Given the description of an element on the screen output the (x, y) to click on. 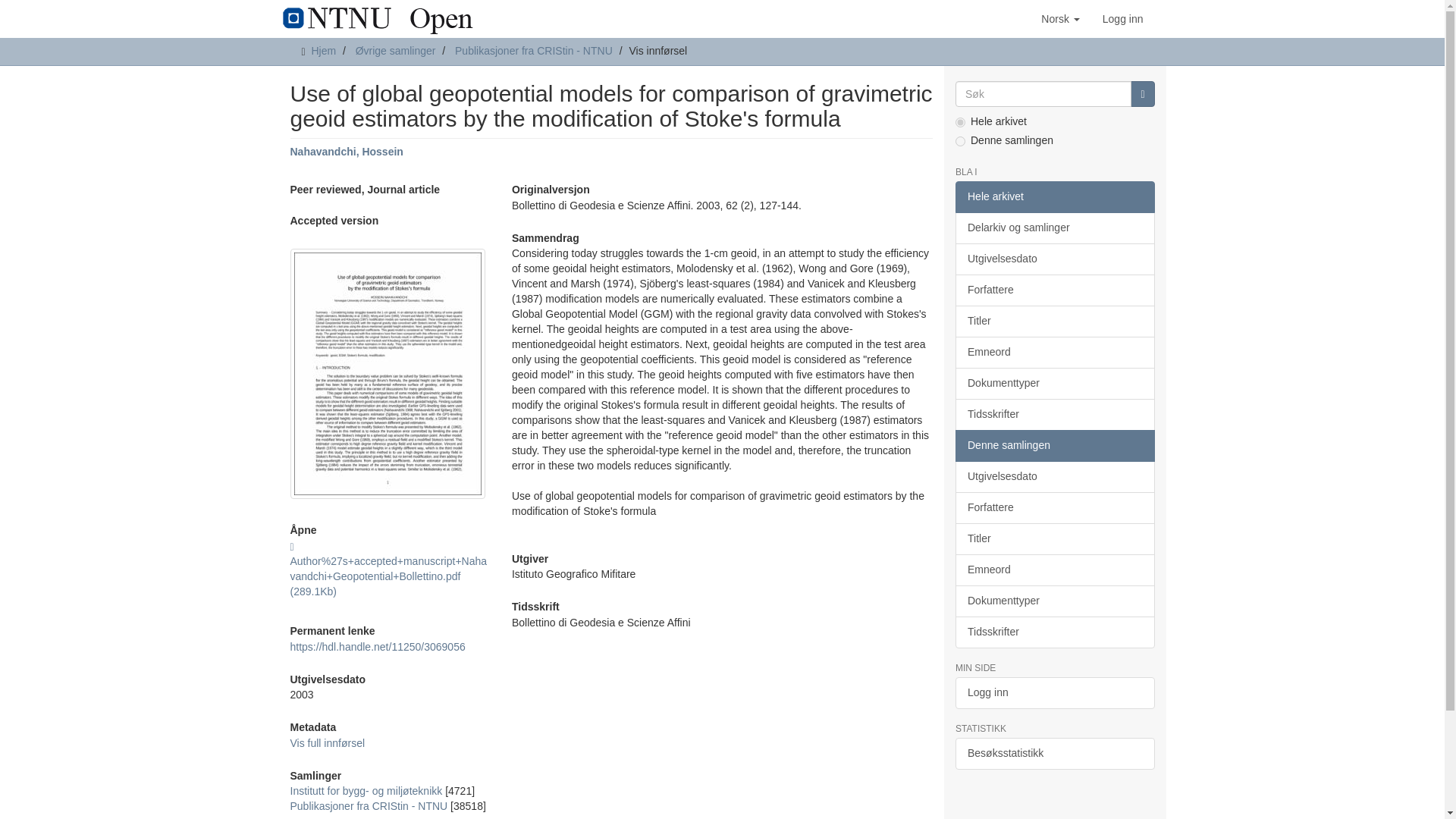
Dokumenttyper (1054, 383)
Forfattere (1054, 290)
Logg inn (1122, 18)
Titler (1054, 321)
Publikasjoner fra CRIStin - NTNU (367, 806)
Hele arkivet (1054, 196)
Utgivelsesdato (1054, 259)
Nahavandchi, Hossein (346, 151)
Delarkiv og samlinger (1054, 228)
Hjem (323, 50)
